Given the description of an element on the screen output the (x, y) to click on. 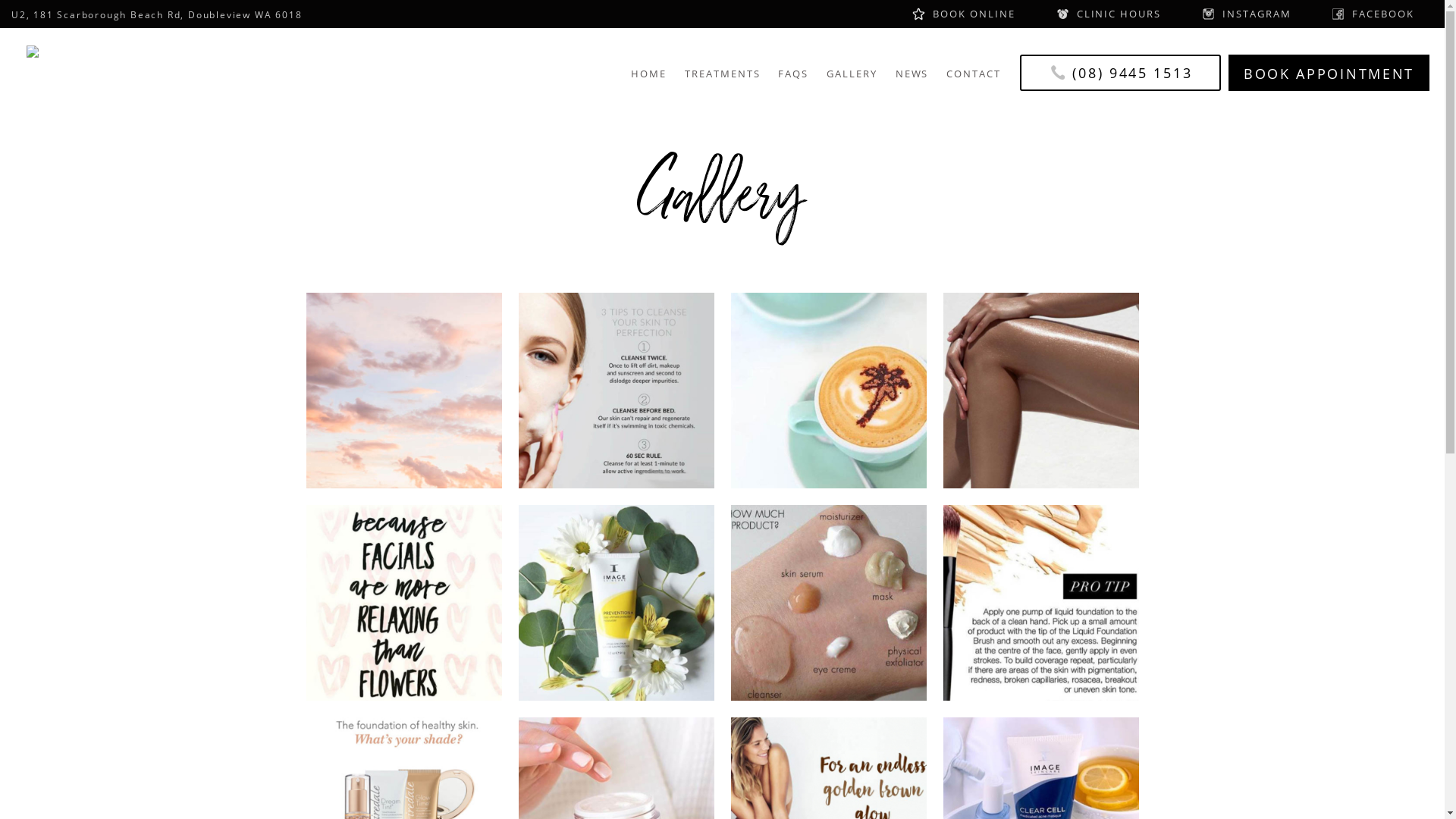
TREATMENTS Element type: text (722, 78)
HOME Element type: text (648, 78)
GALLERY Element type: text (851, 78)
FAQS Element type: text (792, 78)
CLINIC HOURS Element type: text (1108, 13)
INSTAGRAM Element type: text (1246, 13)
BOOK ONLINE Element type: text (963, 13)
(08) 9445 1513 Element type: text (1119, 72)
BOOK APPOINTMENT Element type: text (1328, 72)
NEWS Element type: text (912, 78)
CONTACT Element type: text (973, 78)
FACEBOOK Element type: text (1372, 13)
